Given the description of an element on the screen output the (x, y) to click on. 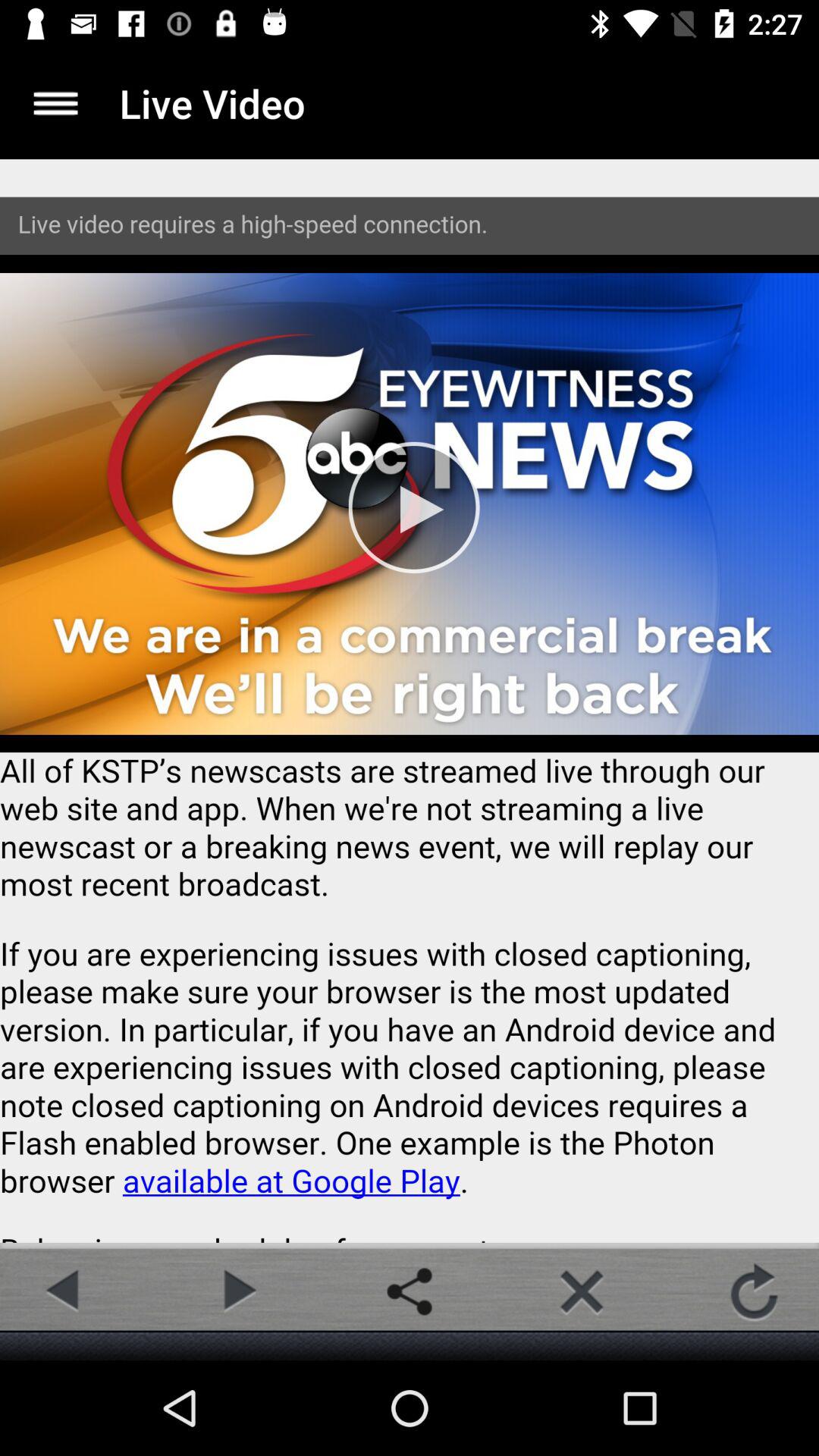
next option (237, 1291)
